Given the description of an element on the screen output the (x, y) to click on. 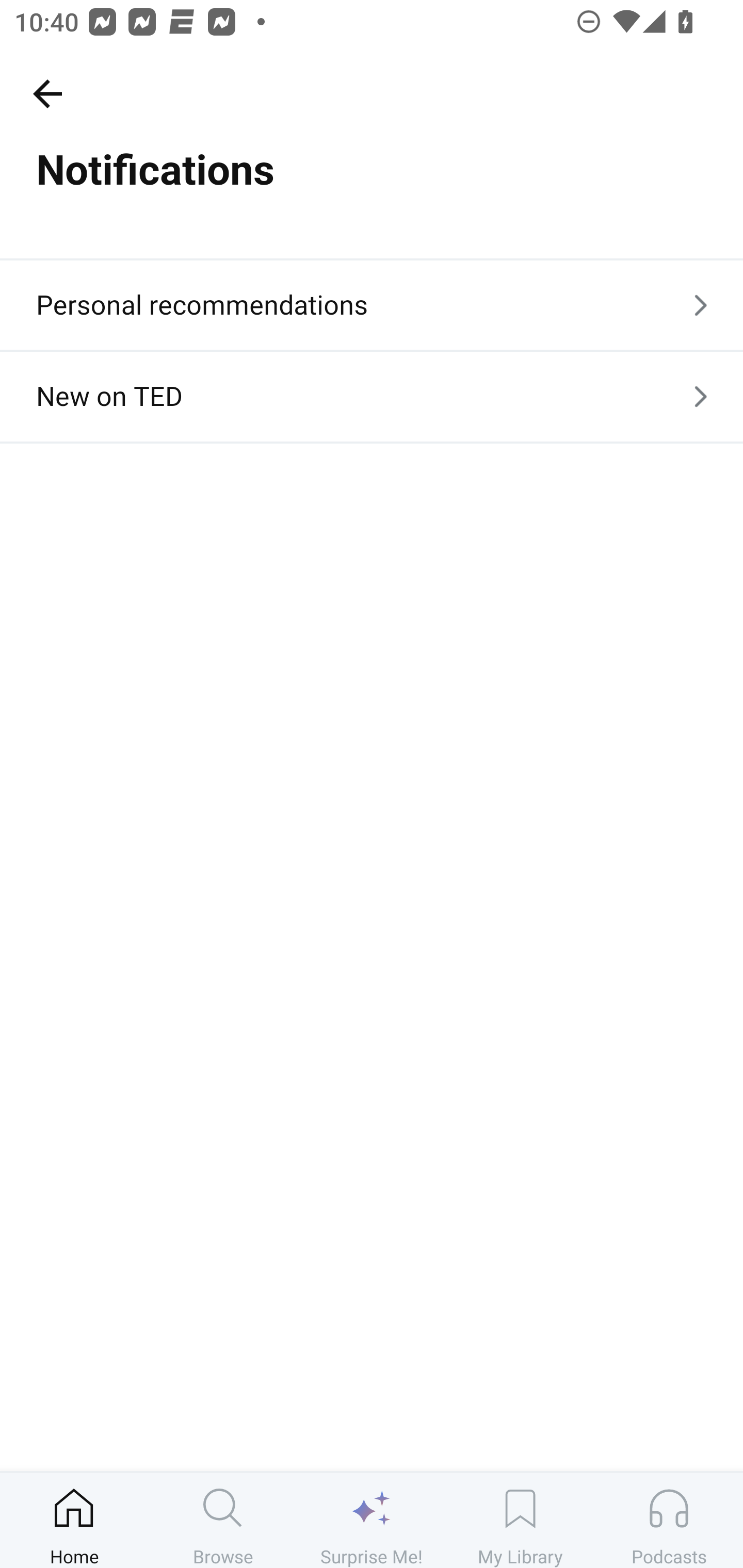
Settings, back (47, 92)
Personal recommendations (371, 304)
New on TED (371, 396)
Home (74, 1520)
Browse (222, 1520)
Surprise Me! (371, 1520)
My Library (519, 1520)
Podcasts (668, 1520)
